Given the description of an element on the screen output the (x, y) to click on. 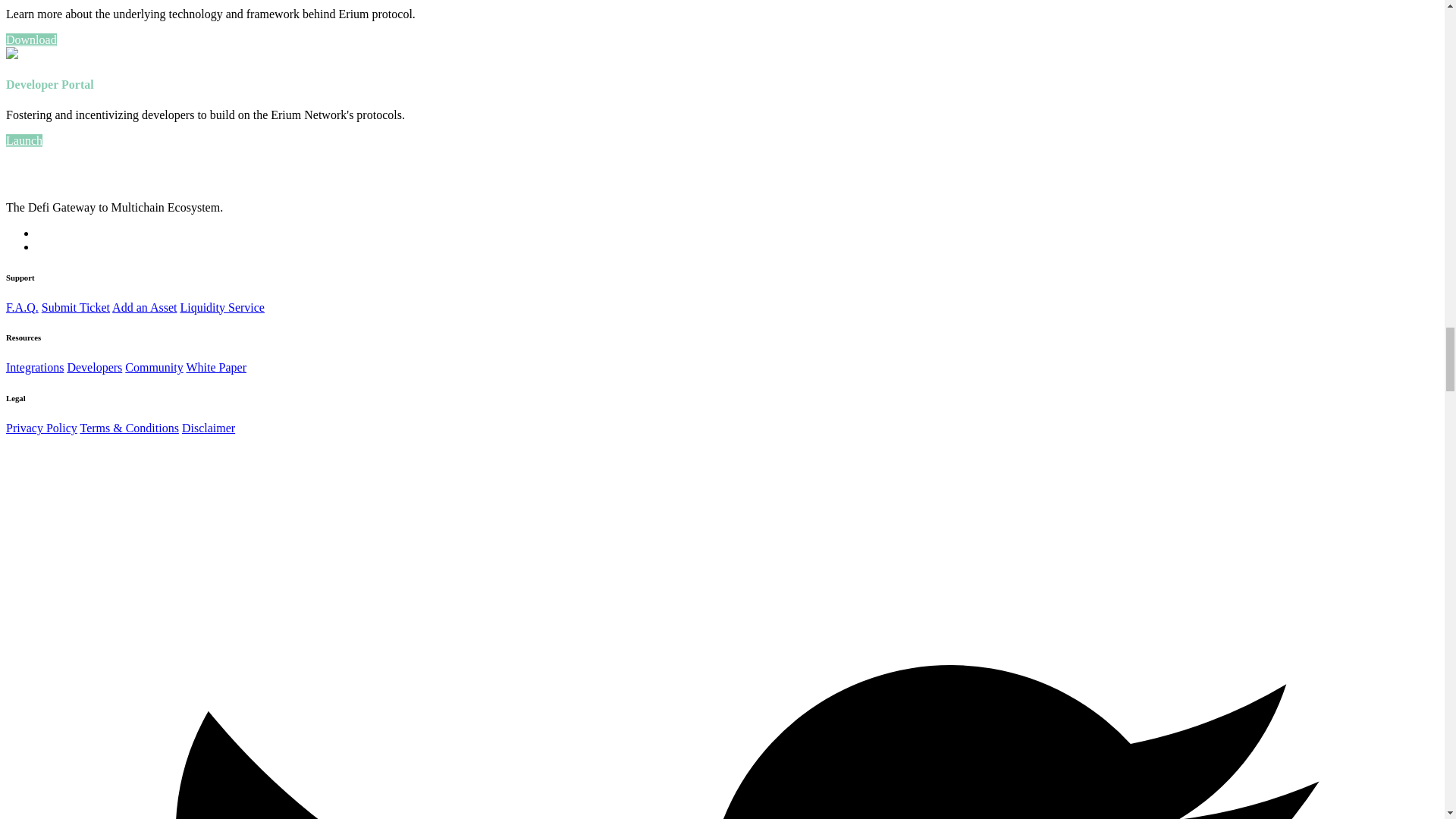
Liquidity Service (221, 306)
Community (154, 367)
White Paper (216, 367)
Launch (23, 140)
Developers (94, 367)
Add an Asset (144, 306)
Privacy Policy (41, 427)
Integrations (34, 367)
Disclaimer (208, 427)
Download (30, 39)
F.A.Q. (22, 306)
Submit Ticket (76, 306)
